Given the description of an element on the screen output the (x, y) to click on. 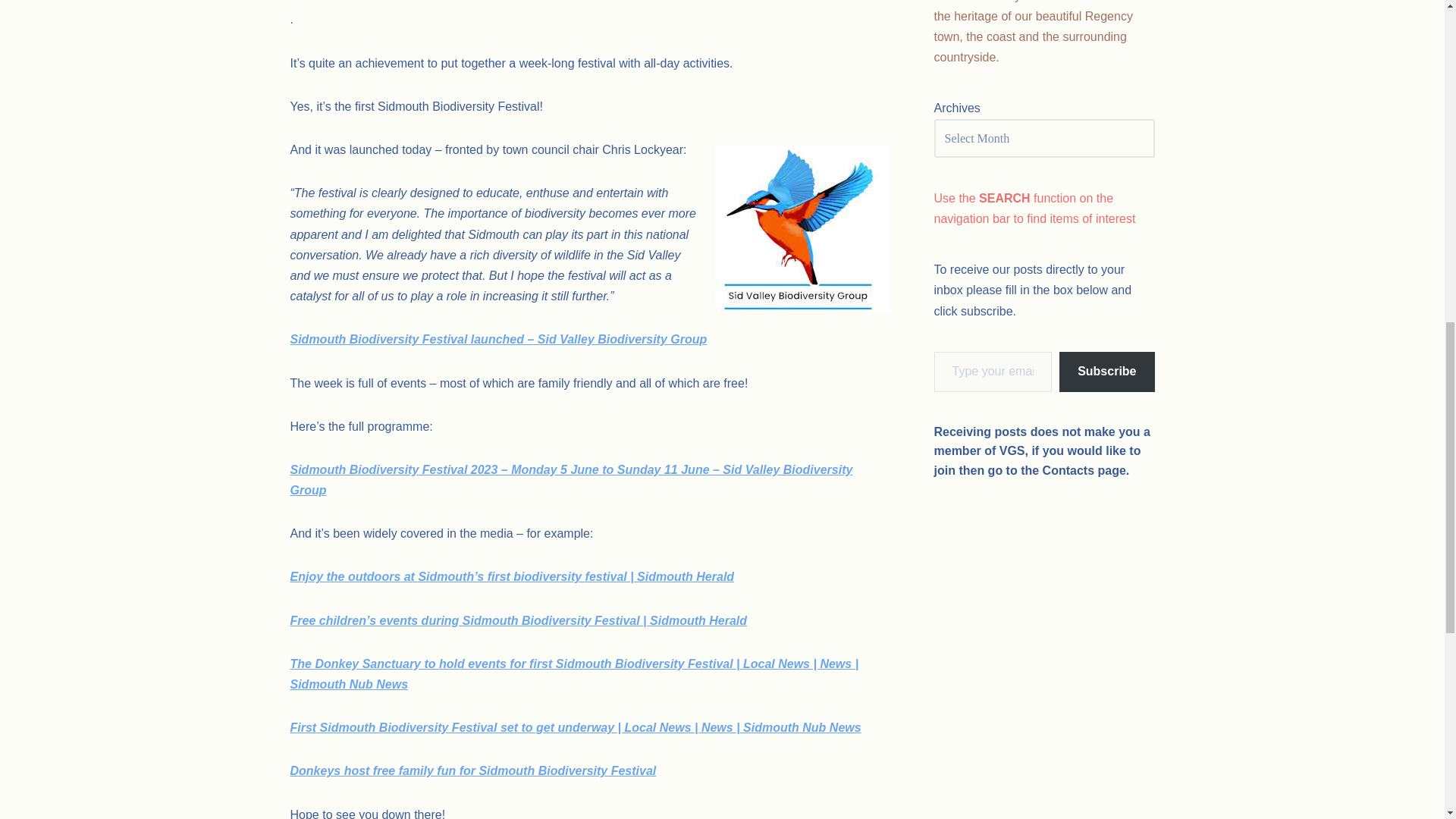
Please fill in this field. (993, 372)
